Given the description of an element on the screen output the (x, y) to click on. 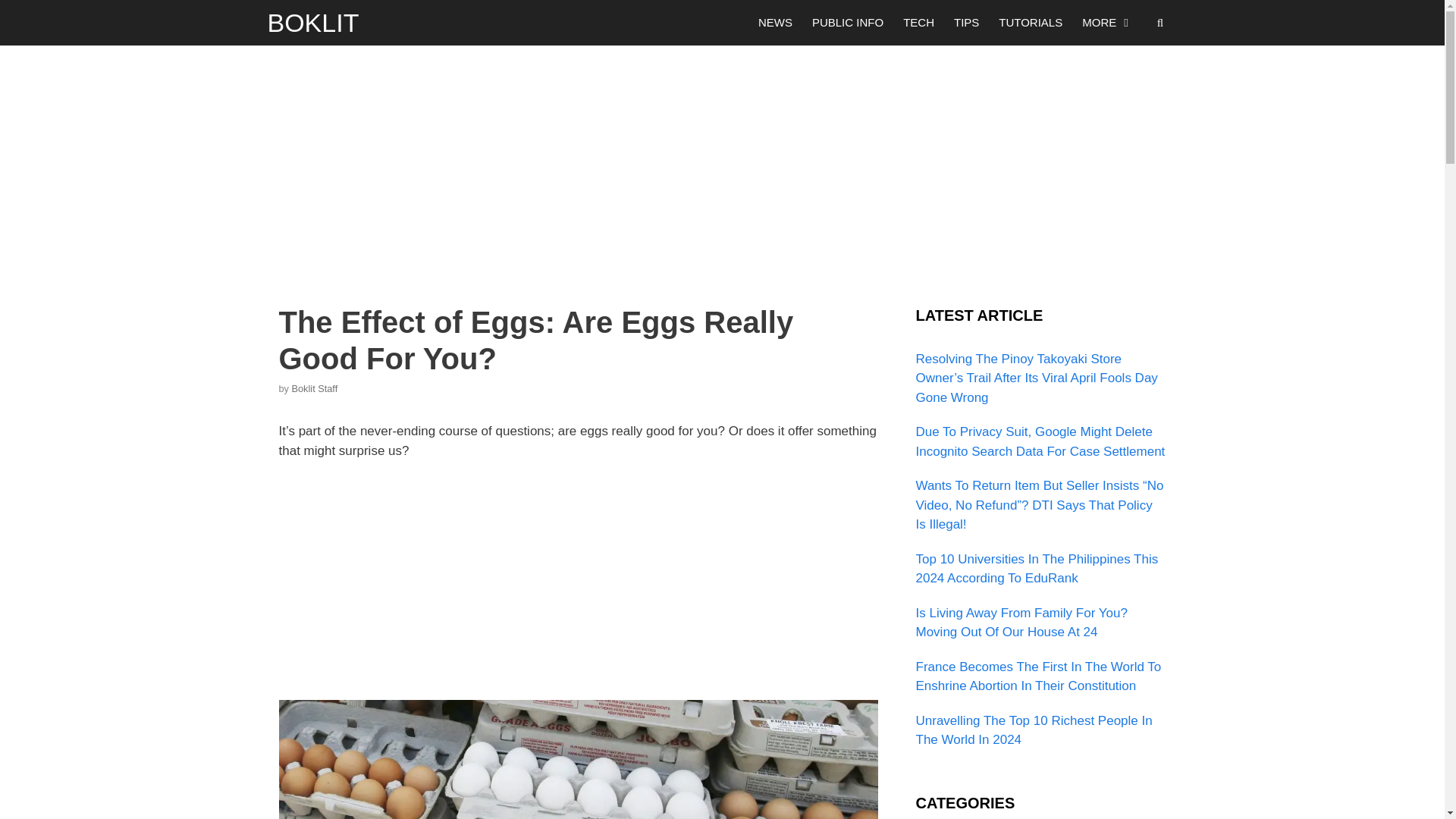
NEWS (775, 22)
View all posts by Boklit Staff (314, 388)
TECH (918, 22)
PUBLIC INFO (847, 22)
TIPS (965, 22)
Advertisement (578, 585)
Boklit Staff (314, 388)
MORE (1106, 22)
TUTORIALS (1029, 22)
